Given the description of an element on the screen output the (x, y) to click on. 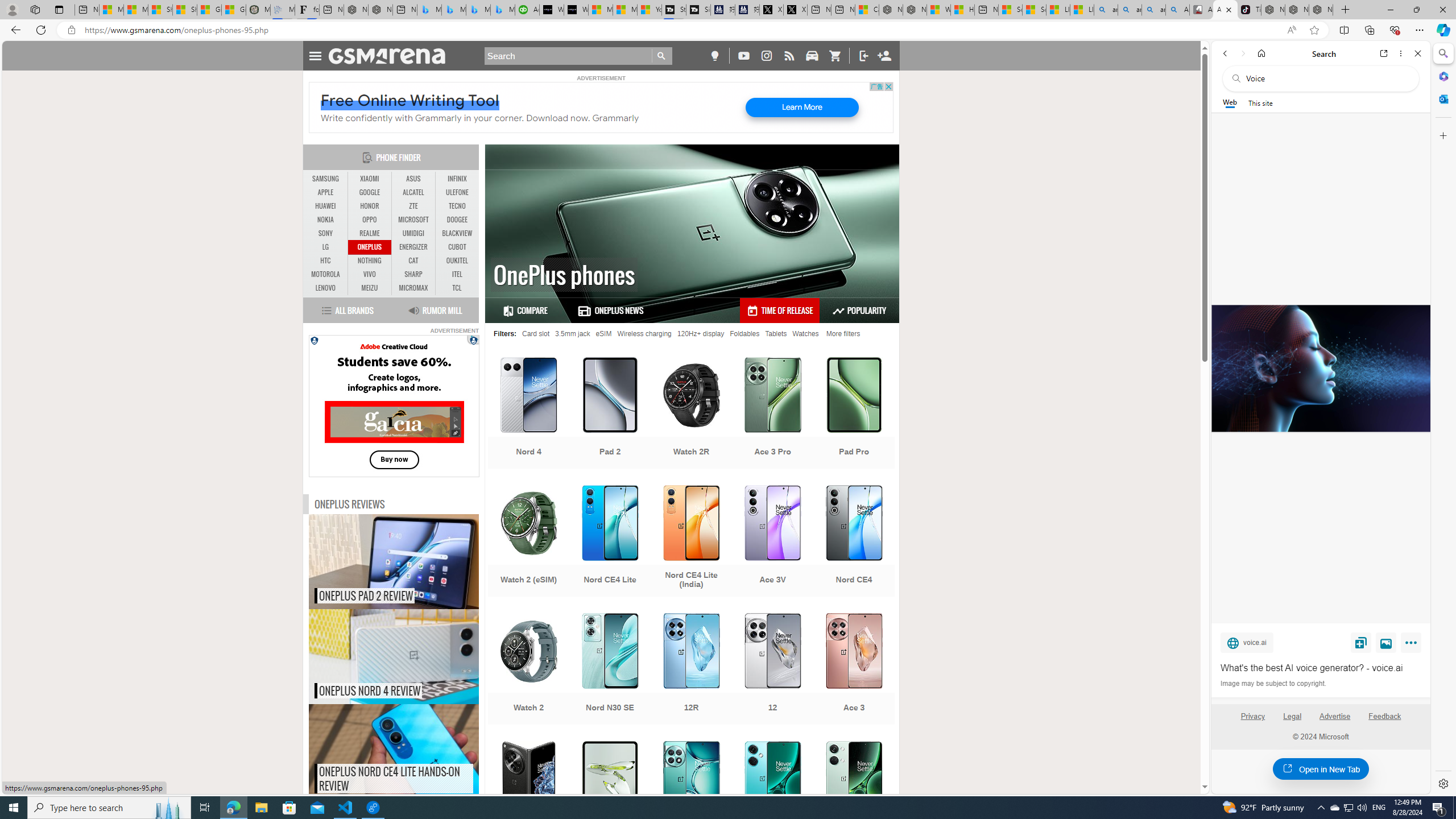
MEIZU (369, 287)
OnePlus Nord CE4 Lite hands-on review (417, 751)
INFINIX (457, 178)
TCL (457, 287)
Foldables (744, 333)
ONEPLUS (369, 246)
LENOVO (325, 287)
Amazon Echo Robot - Search Images (1176, 9)
Click Here (393, 405)
Nord CE4 Lite (609, 542)
Watch 2R (691, 413)
